Given the description of an element on the screen output the (x, y) to click on. 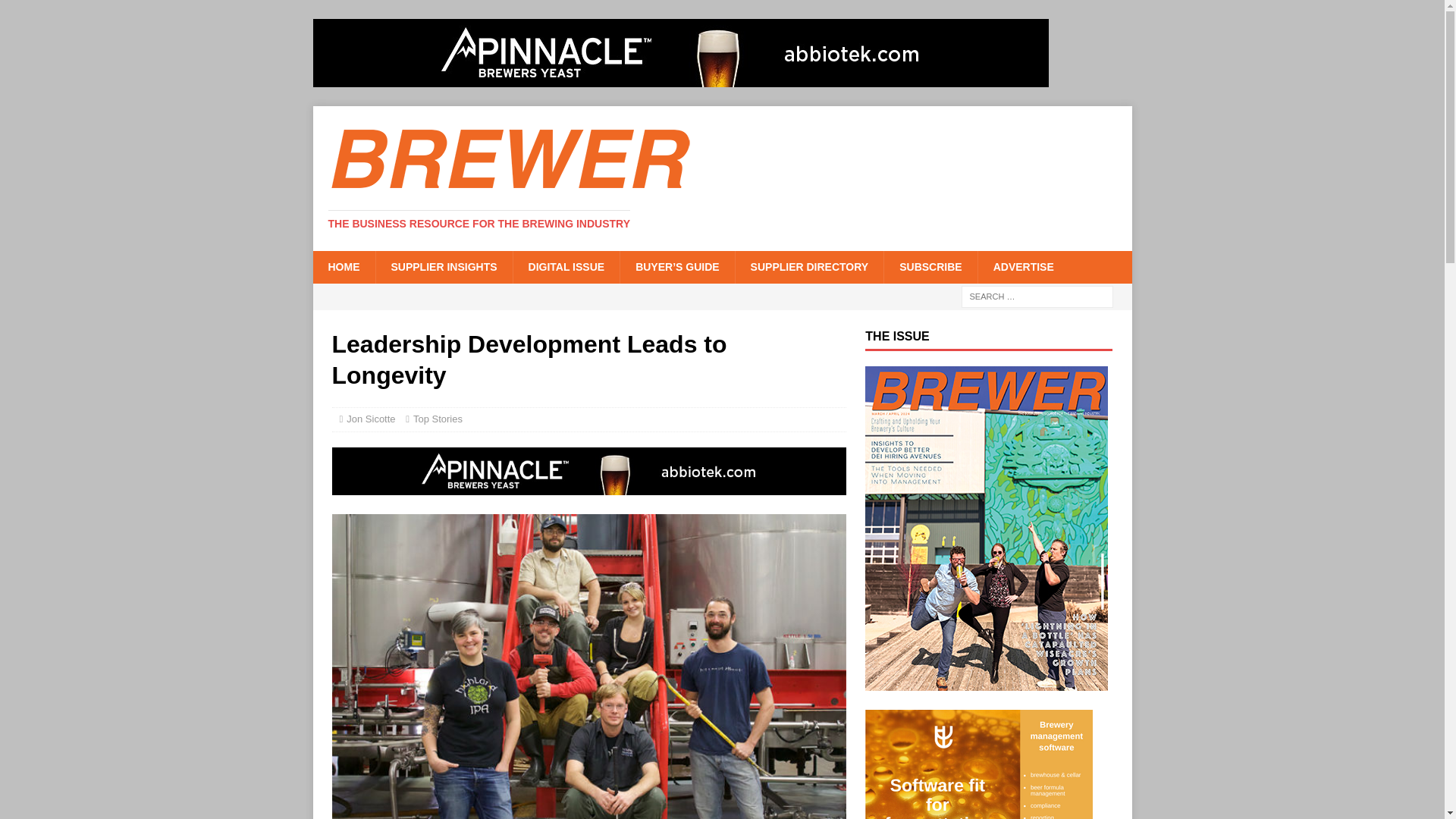
Jon Sicotte (370, 419)
Top Stories (438, 419)
SUPPLIER INSIGHTS (443, 266)
ADVERTISE (1022, 266)
Search (56, 11)
HOME (343, 266)
THE BUSINESS RESOURCE FOR THE BREWING INDUSTRY (478, 223)
SUPPLIER DIRECTORY (809, 266)
DIGITAL ISSUE (566, 266)
SUBSCRIBE (929, 266)
